Given the description of an element on the screen output the (x, y) to click on. 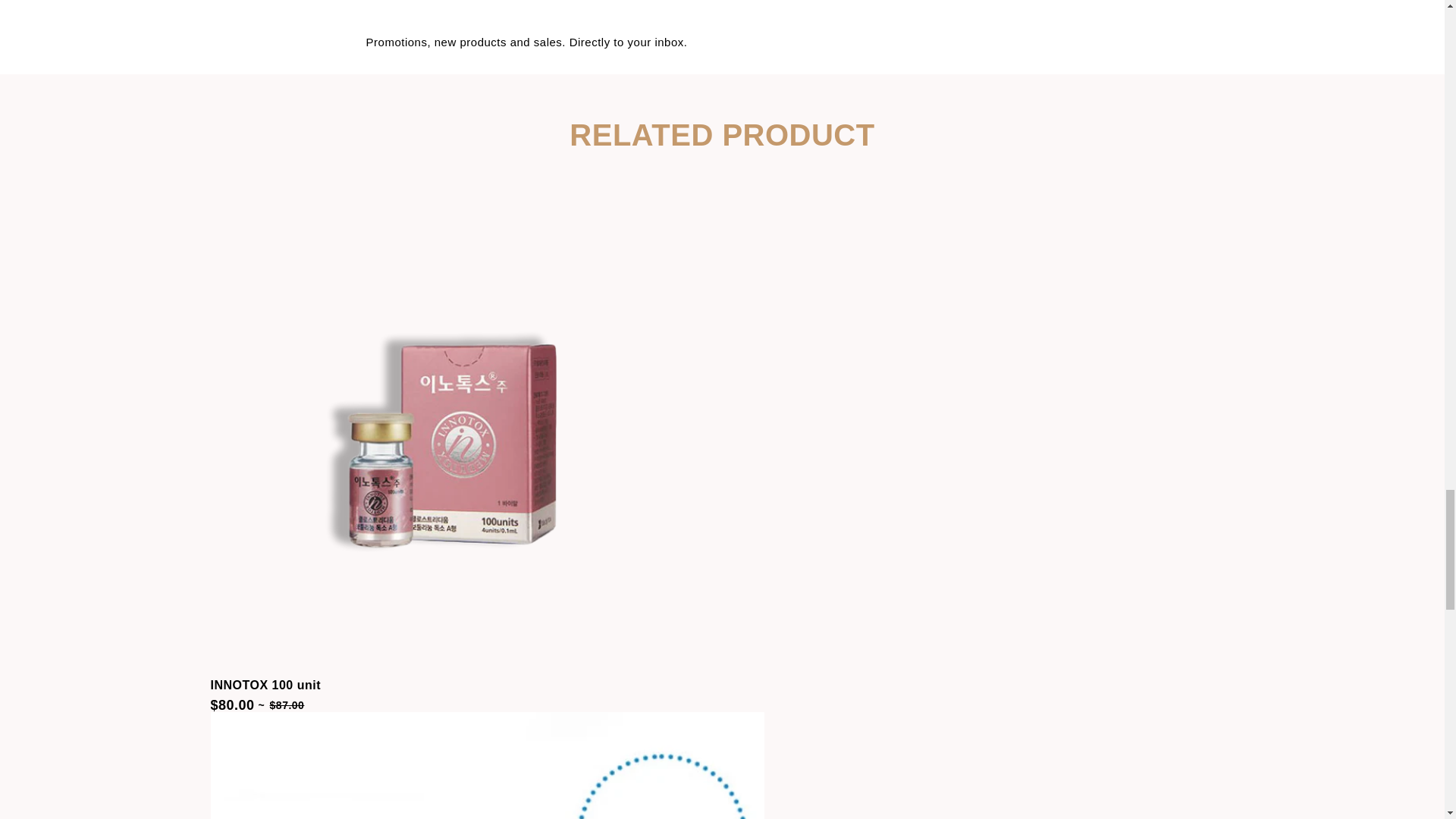
INNOTOX 100 unit (266, 685)
